Given the description of an element on the screen output the (x, y) to click on. 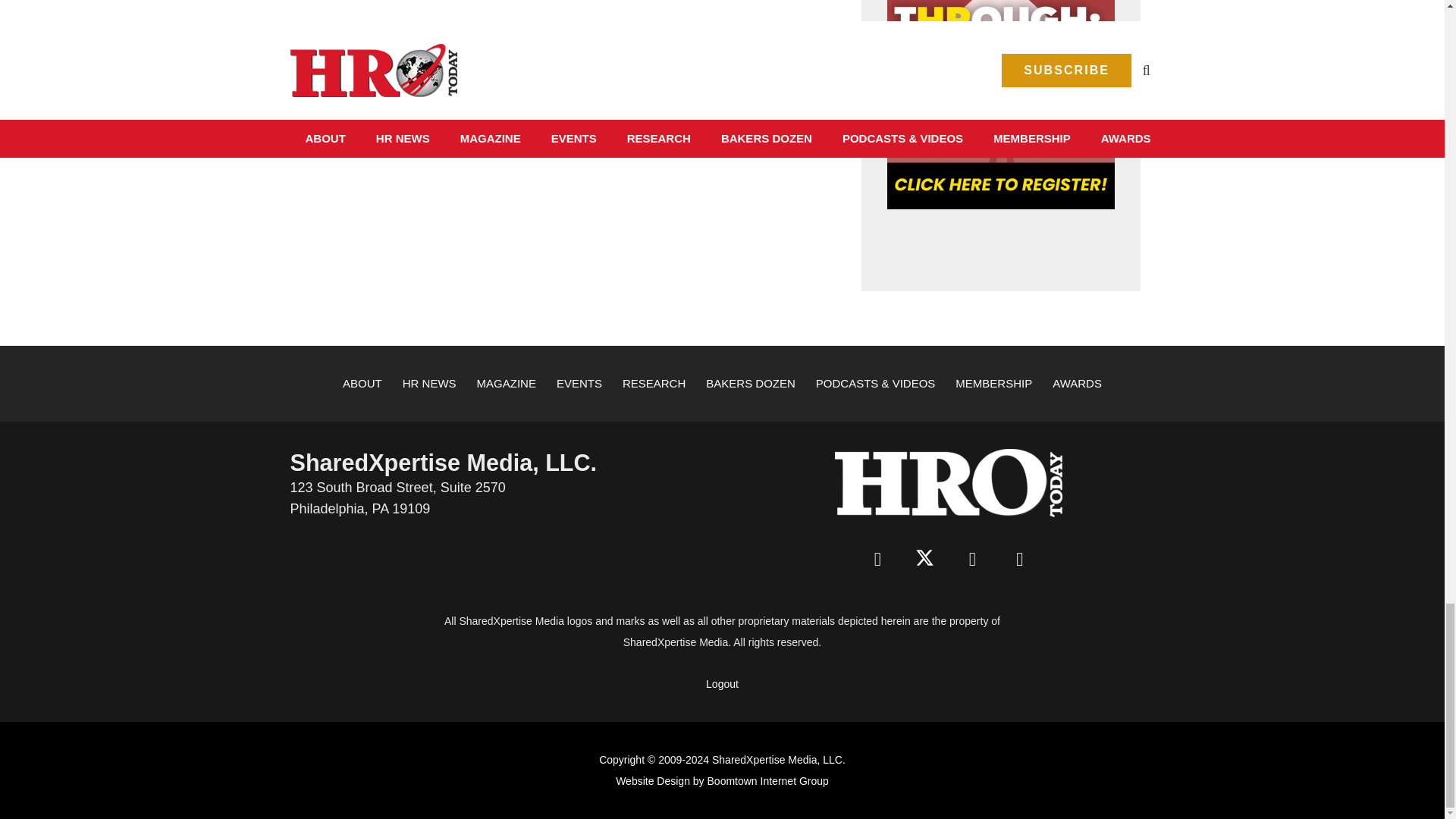
Twitter (925, 559)
YouTube (1019, 559)
Home (948, 482)
LinkedIn (972, 559)
Facebook (877, 559)
